Given the description of an element on the screen output the (x, y) to click on. 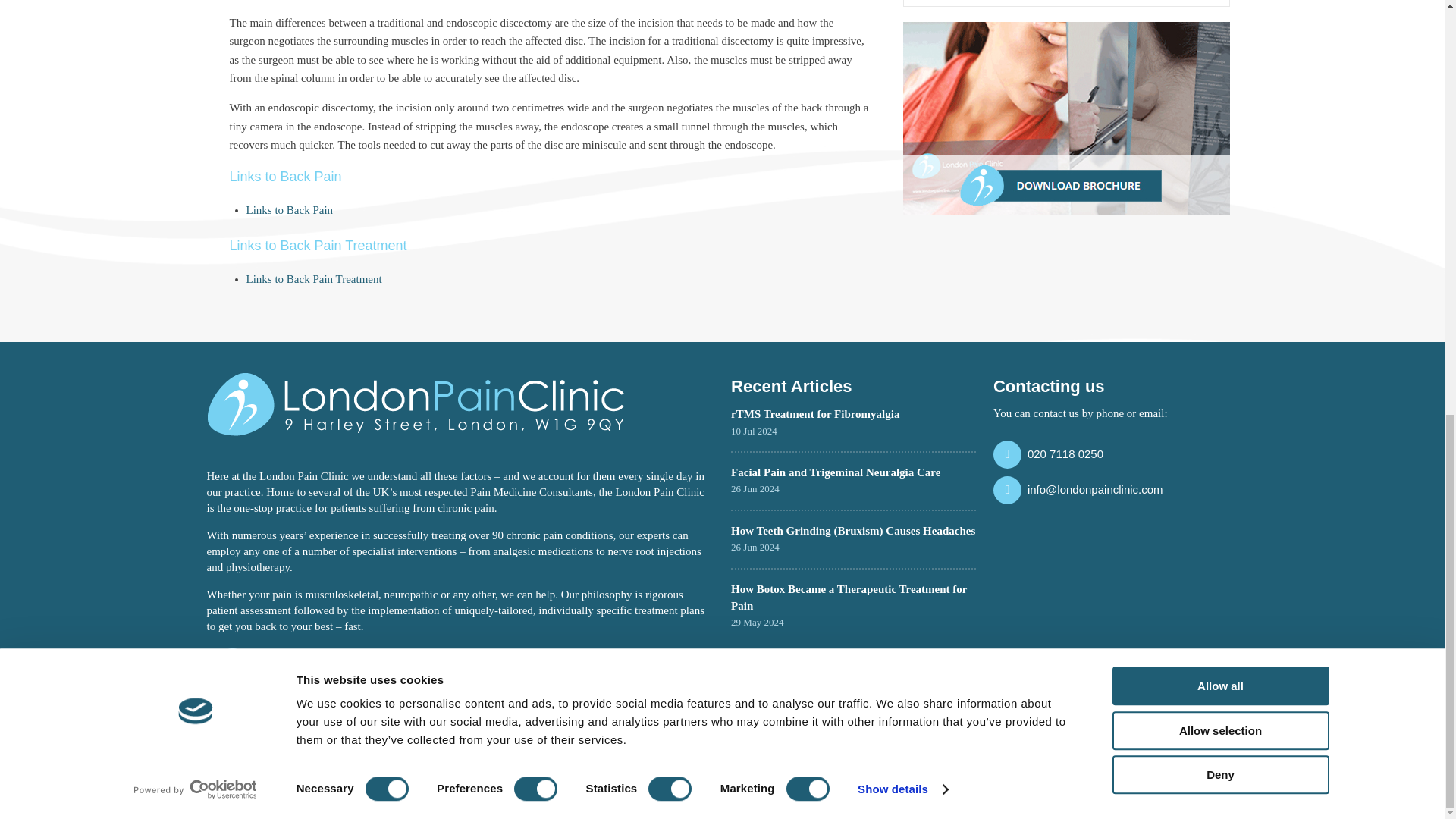
Links to Back Pain Treatment (313, 278)
Links to Back Pain (289, 209)
How Botox Became a Therapeutic Treatment for Pain (848, 597)
Facial Pain and Trigeminal Neuralgia Care (835, 472)
rTMS Treatment for Fibromyalgia (814, 413)
